Given the description of an element on the screen output the (x, y) to click on. 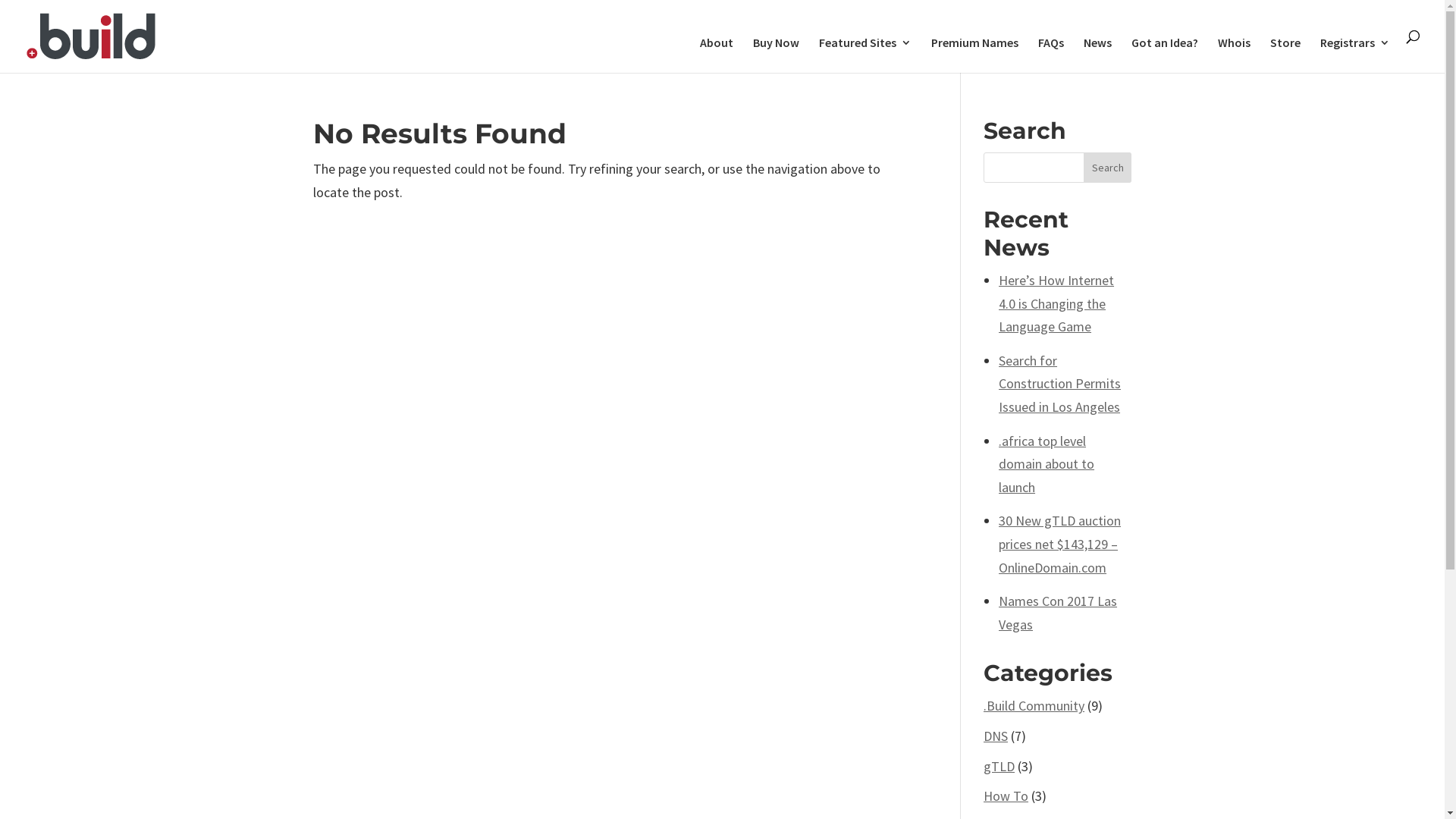
.Build Community Element type: text (1033, 705)
FAQs Element type: text (1050, 54)
.africa top level domain about to launch Element type: text (1046, 463)
News Element type: text (1097, 54)
Got an Idea? Element type: text (1164, 54)
Registrars Element type: text (1355, 54)
DNS Element type: text (995, 735)
Skip to content Element type: text (0, 0)
How To Element type: text (1005, 795)
Search Element type: text (1107, 167)
Store Element type: text (1285, 54)
Featured Sites Element type: text (865, 54)
gTLD Element type: text (998, 765)
Whois Element type: text (1233, 54)
Names Con 2017 Las Vegas Element type: text (1057, 612)
Buy Now Element type: text (776, 54)
Premium Names Element type: text (974, 54)
Search for Construction Permits Issued in Los Angeles Element type: text (1059, 383)
About Element type: text (716, 54)
